Given the description of an element on the screen output the (x, y) to click on. 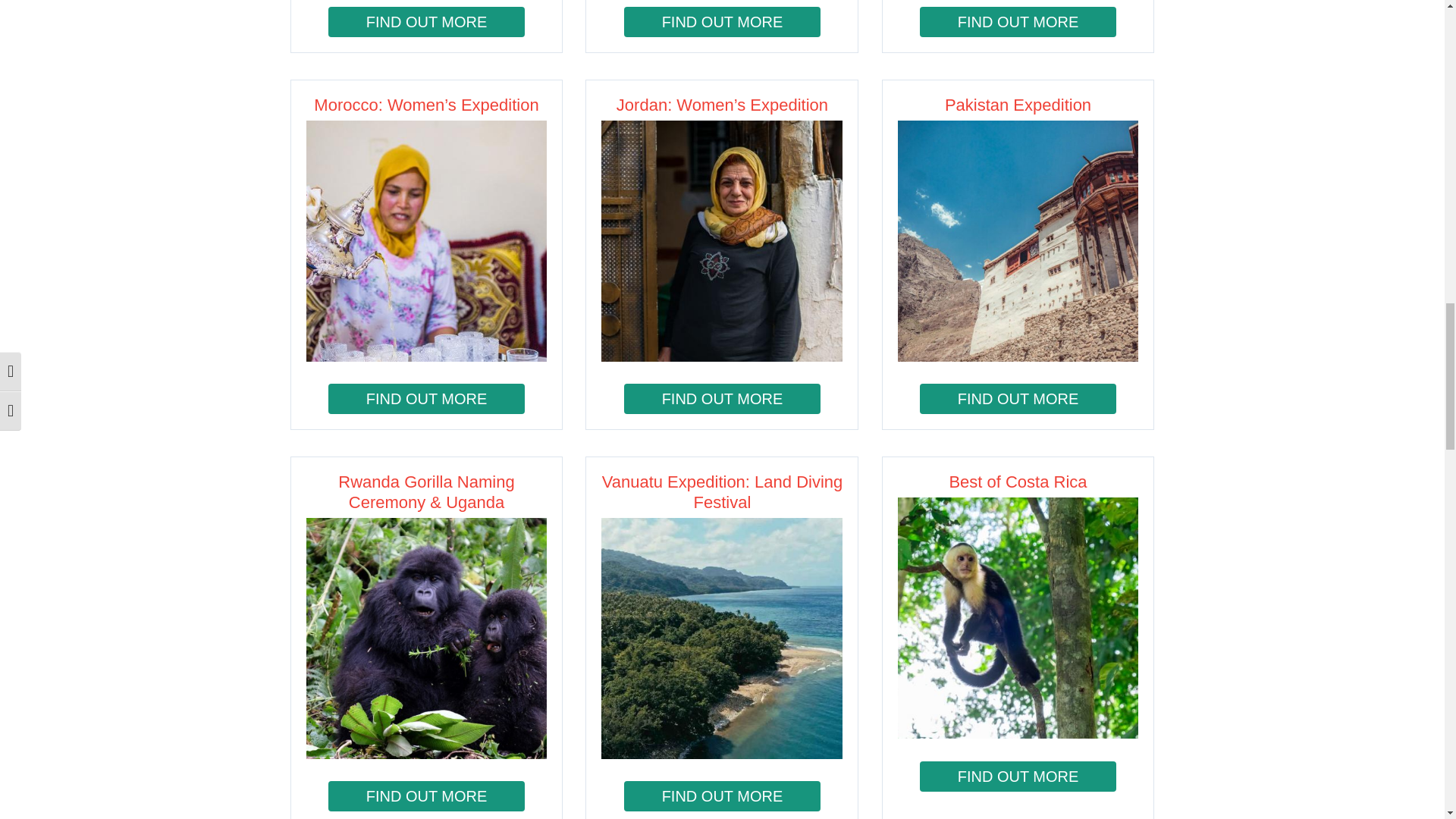
FIND OUT MORE (427, 21)
FIND OUT MORE (722, 21)
